Given the description of an element on the screen output the (x, y) to click on. 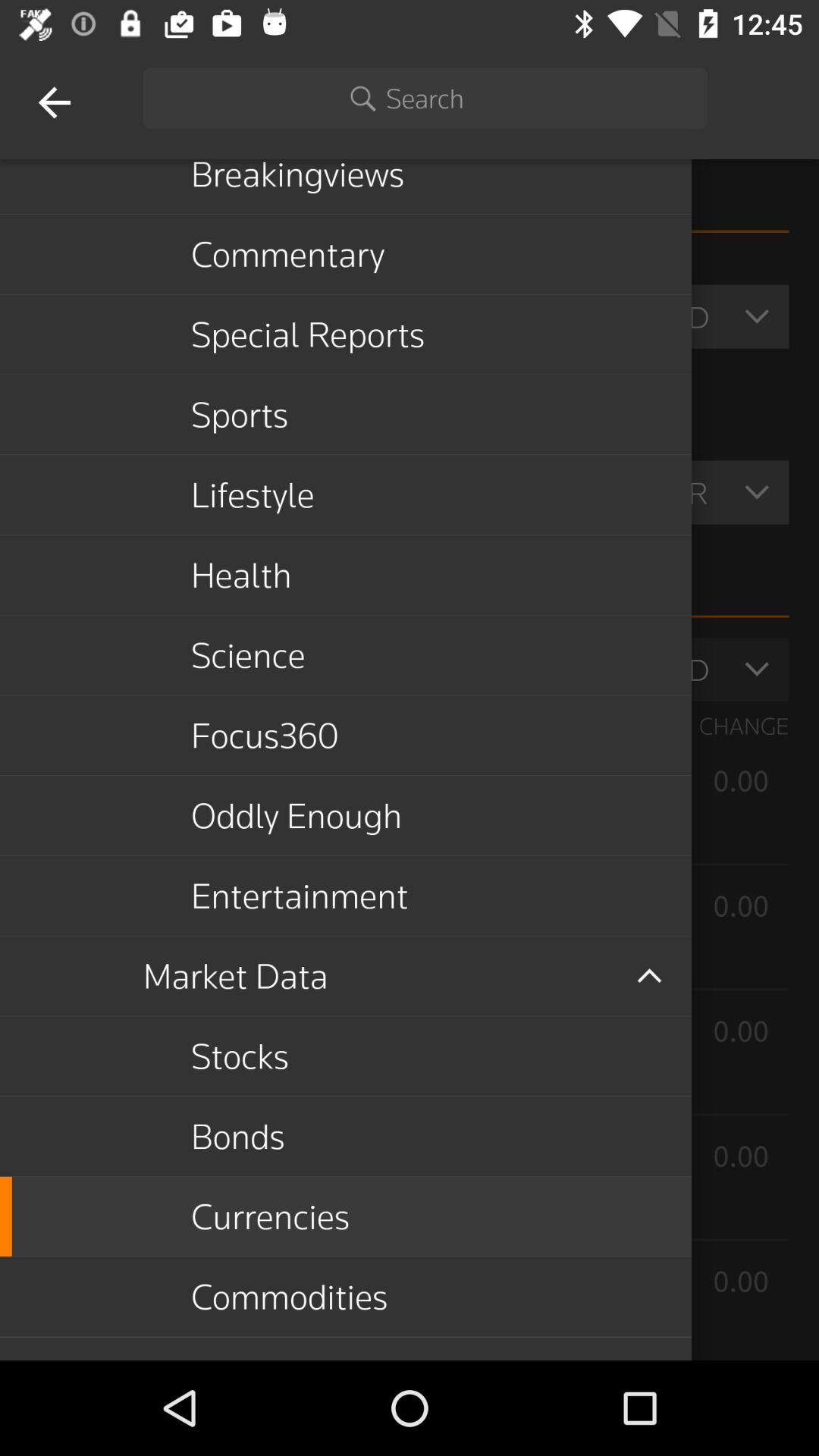
select the text field which is above the breakingviews (425, 97)
